Given the description of an element on the screen output the (x, y) to click on. 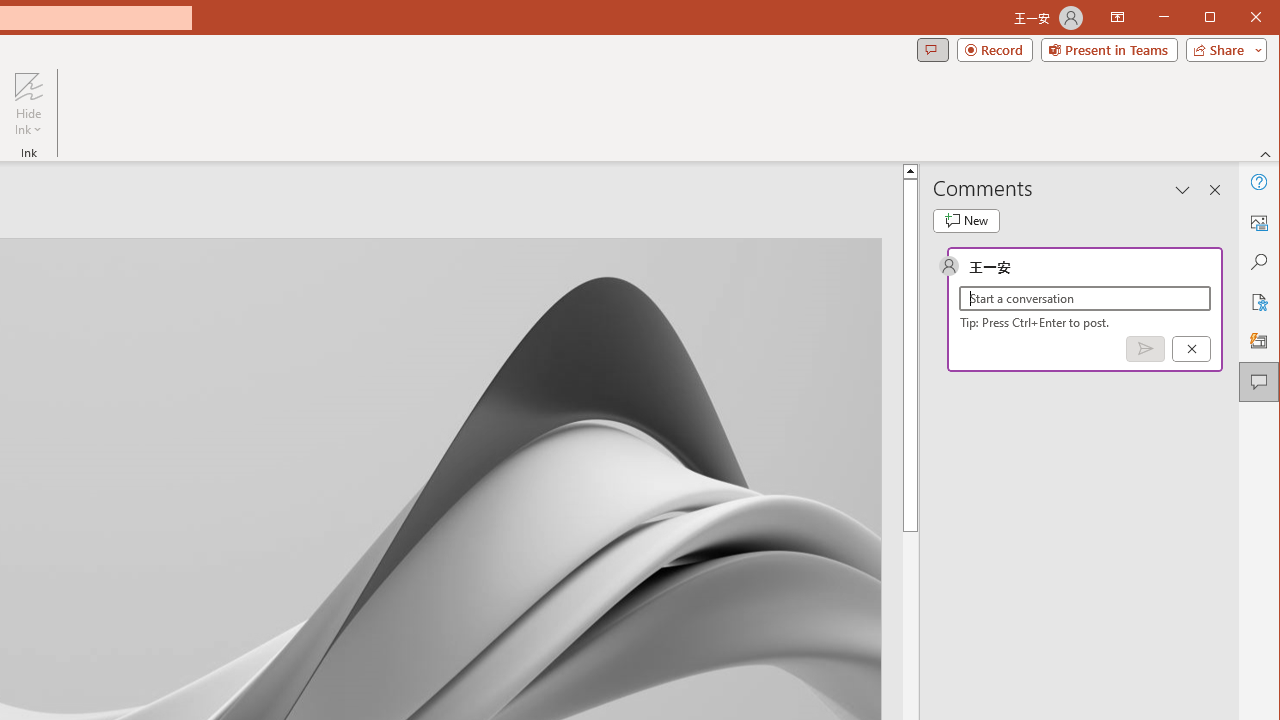
Cancel (1191, 349)
